Given the description of an element on the screen output the (x, y) to click on. 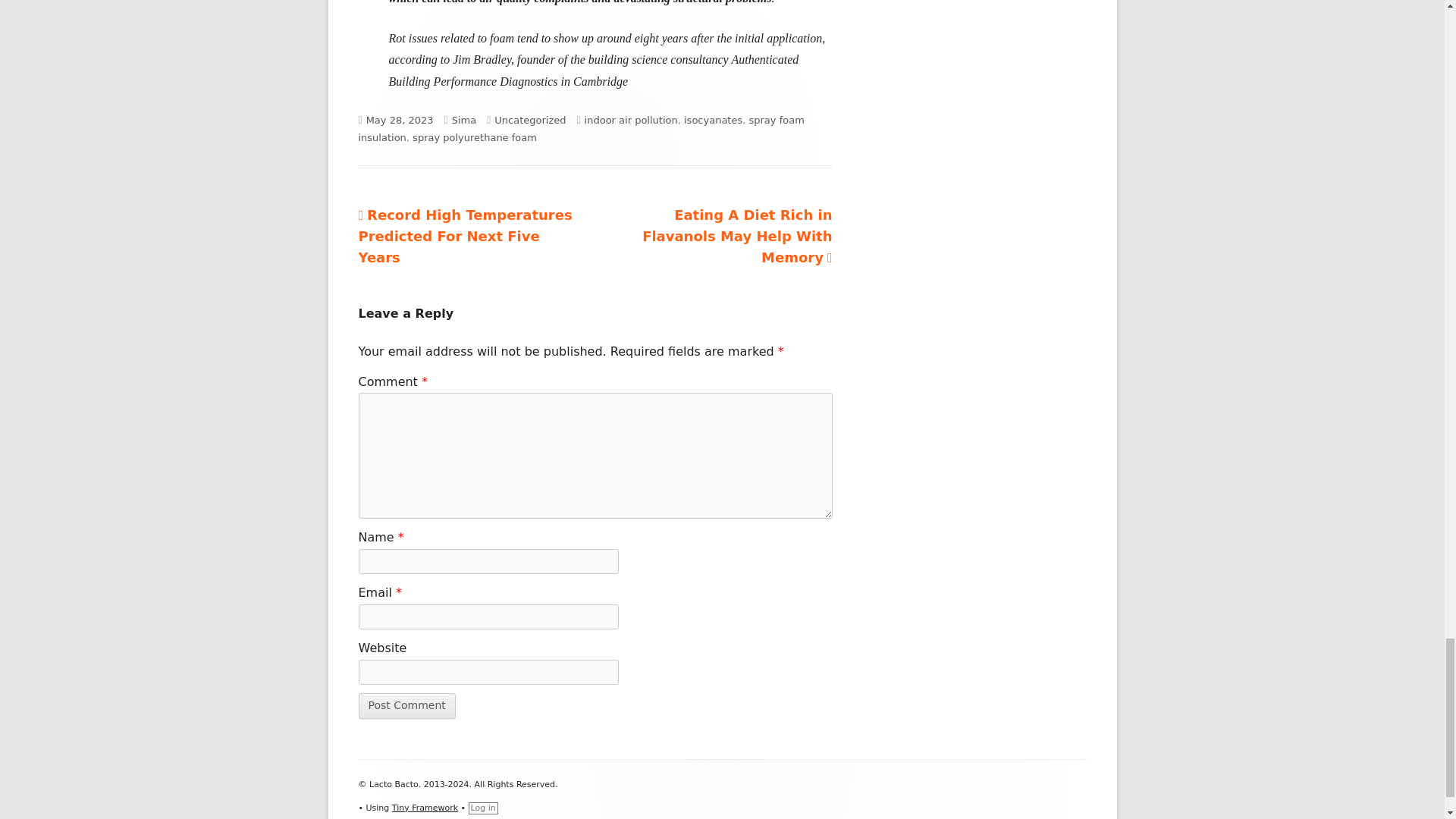
Post Comment (406, 705)
Post Comment (406, 705)
spray polyurethane foam (474, 137)
Uncategorized (530, 120)
May 28, 2023 (399, 120)
isocyanates (713, 120)
indoor air pollution (631, 120)
spray foam insulation (580, 128)
Sima (464, 120)
